Given the description of an element on the screen output the (x, y) to click on. 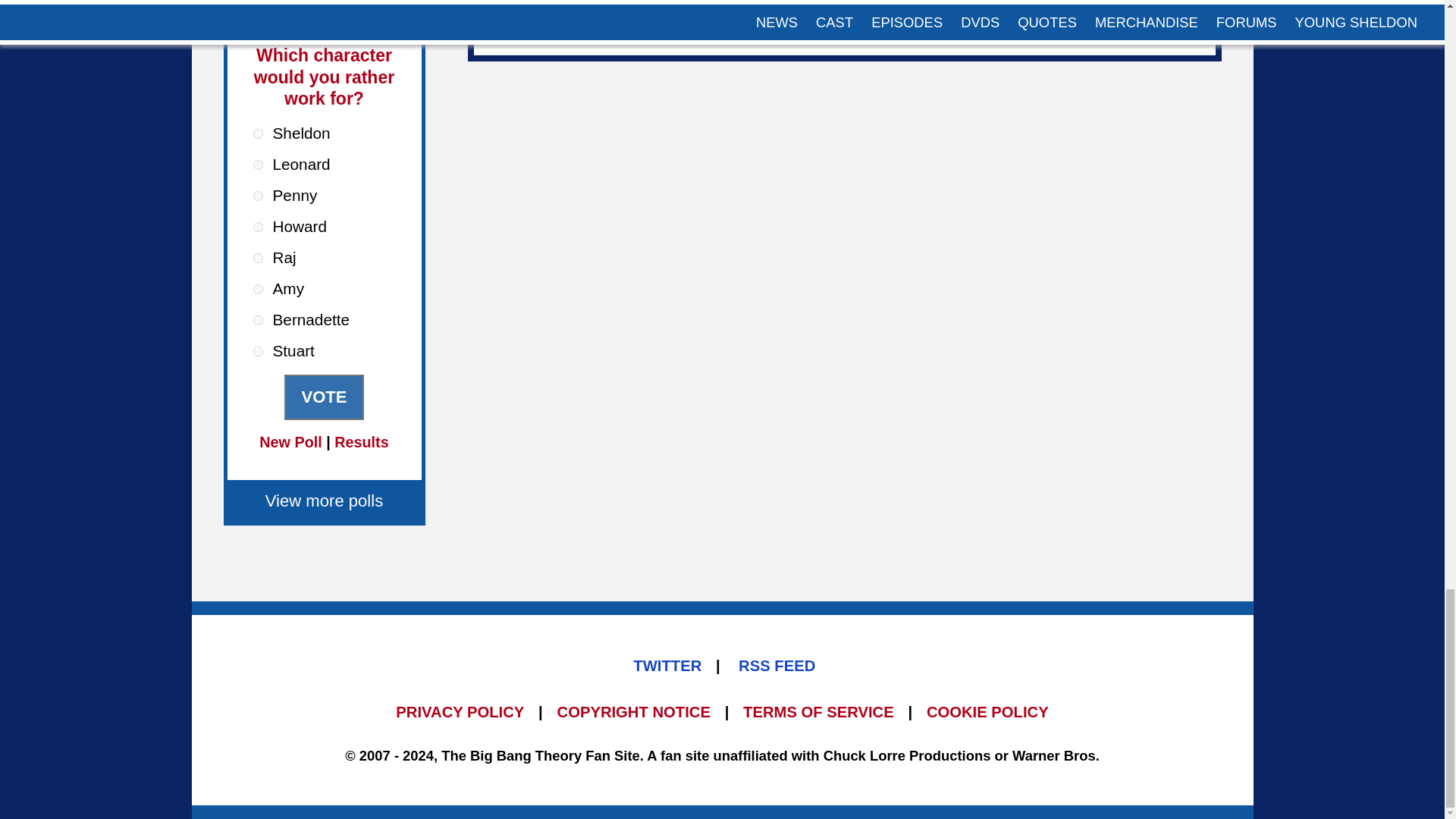
3 (258, 195)
7 (258, 320)
6 (258, 289)
8 (258, 351)
4 (258, 226)
1 (258, 133)
5 (258, 257)
2 (258, 164)
Vote (322, 397)
